Given the description of an element on the screen output the (x, y) to click on. 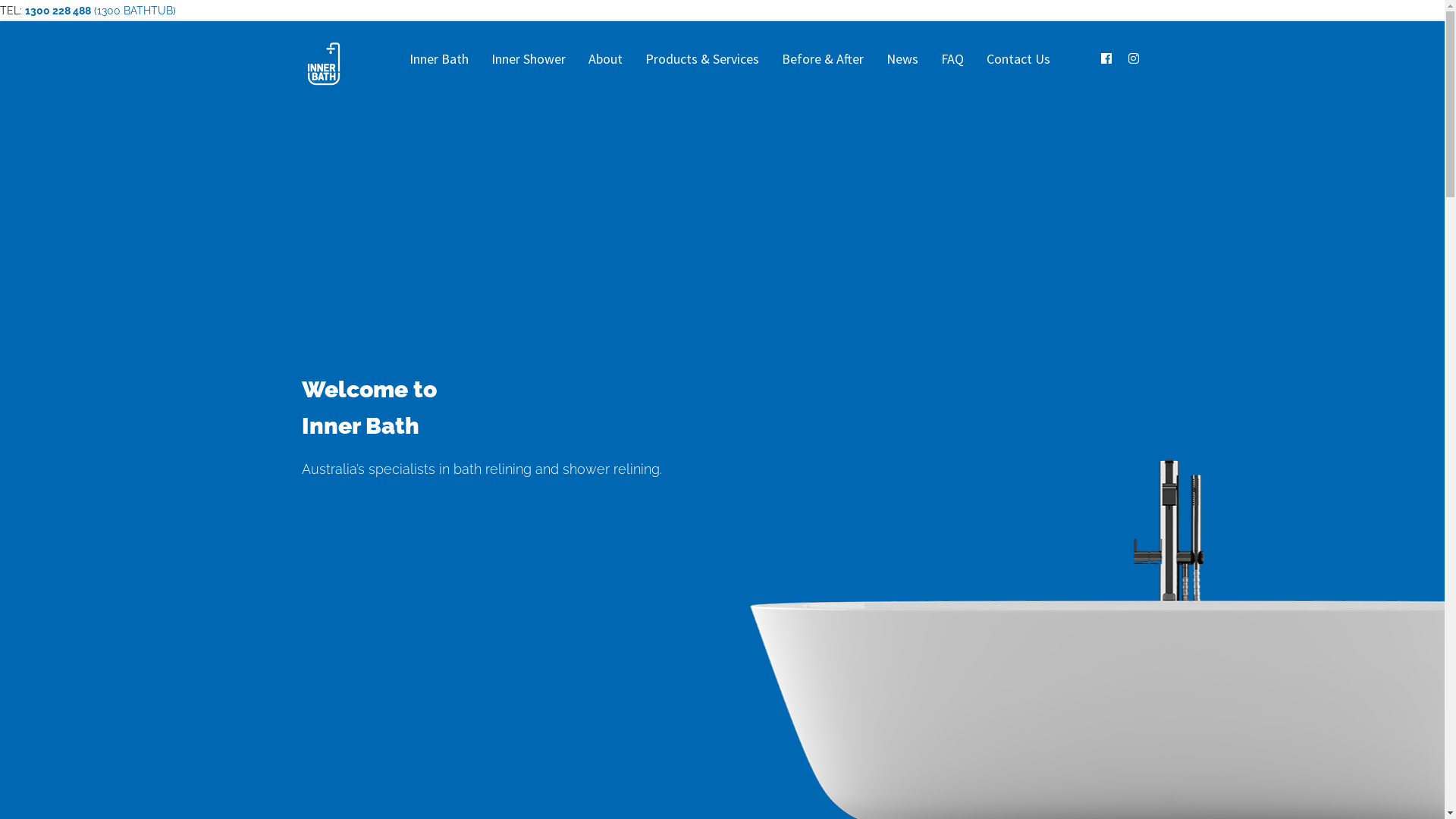
FAQ Element type: text (952, 59)
Inner Bath Element type: text (438, 59)
News Element type: text (902, 59)
Before & After Element type: text (822, 59)
1300 228 488 (1300 BATHTUB) Element type: text (100, 10)
Products & Services Element type: text (701, 59)
Inner Shower Element type: text (527, 59)
Contact Us Element type: text (1018, 59)
About Element type: text (604, 59)
